Given the description of an element on the screen output the (x, y) to click on. 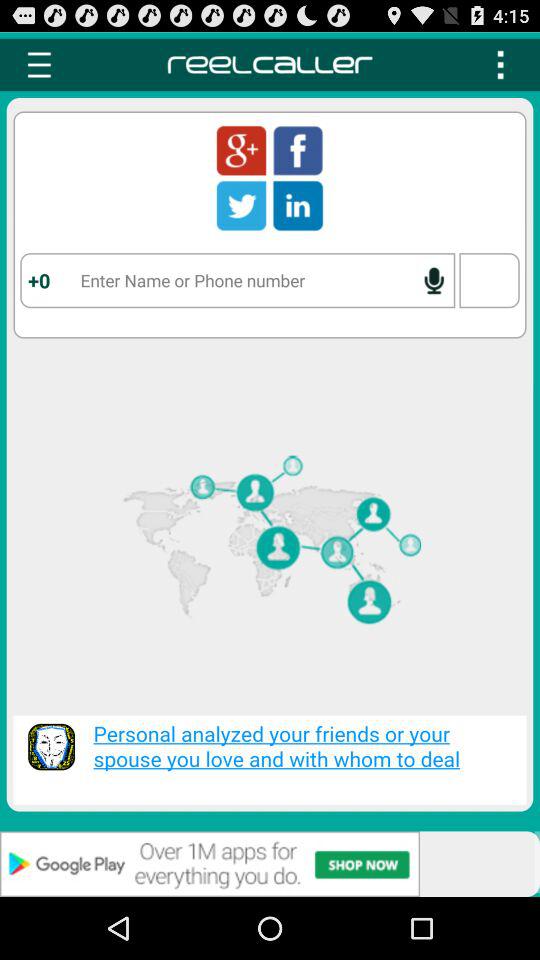
twitter (241, 205)
